Given the description of an element on the screen output the (x, y) to click on. 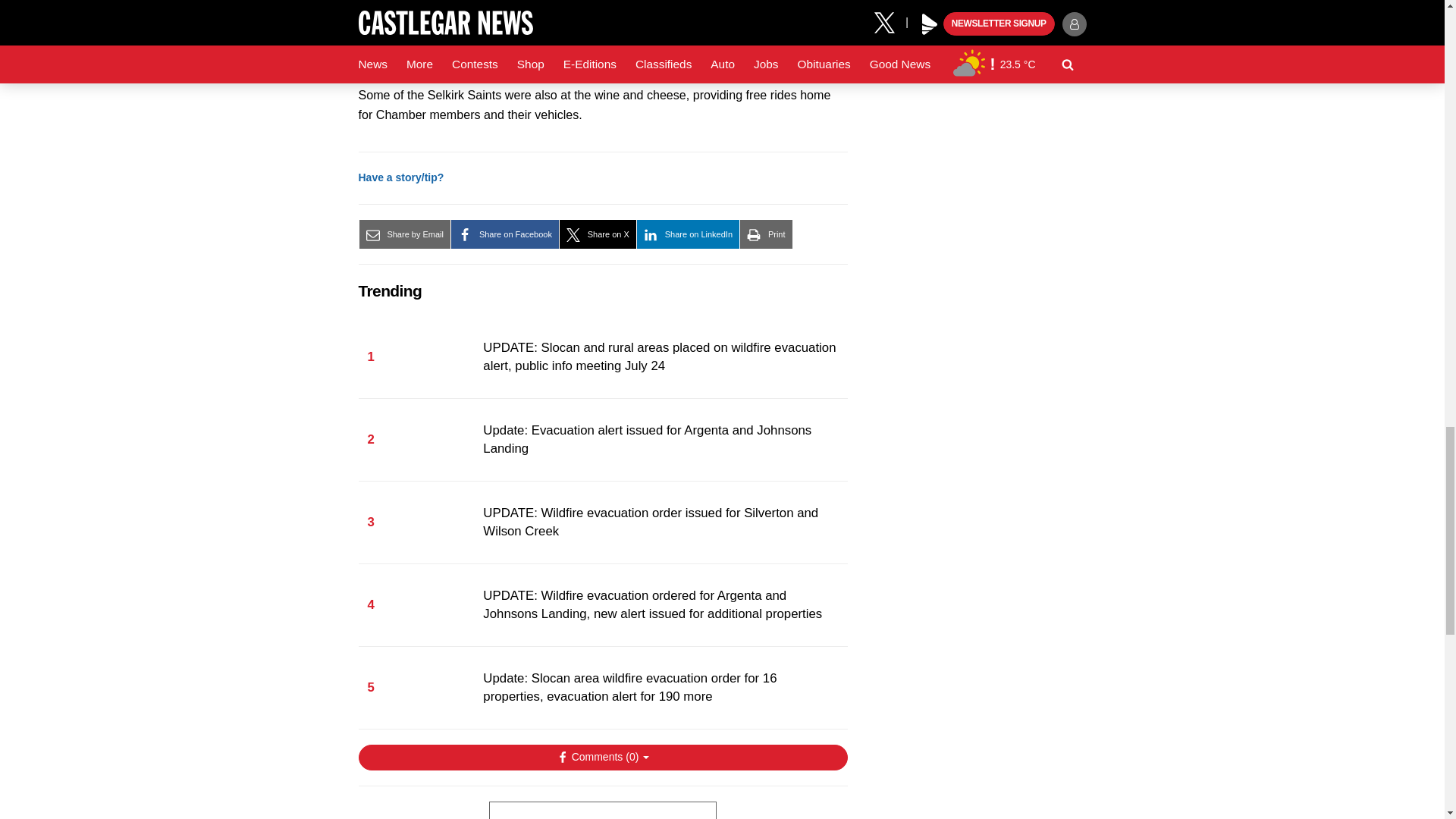
3rd party ad content (602, 810)
Show Comments (602, 757)
